Given the description of an element on the screen output the (x, y) to click on. 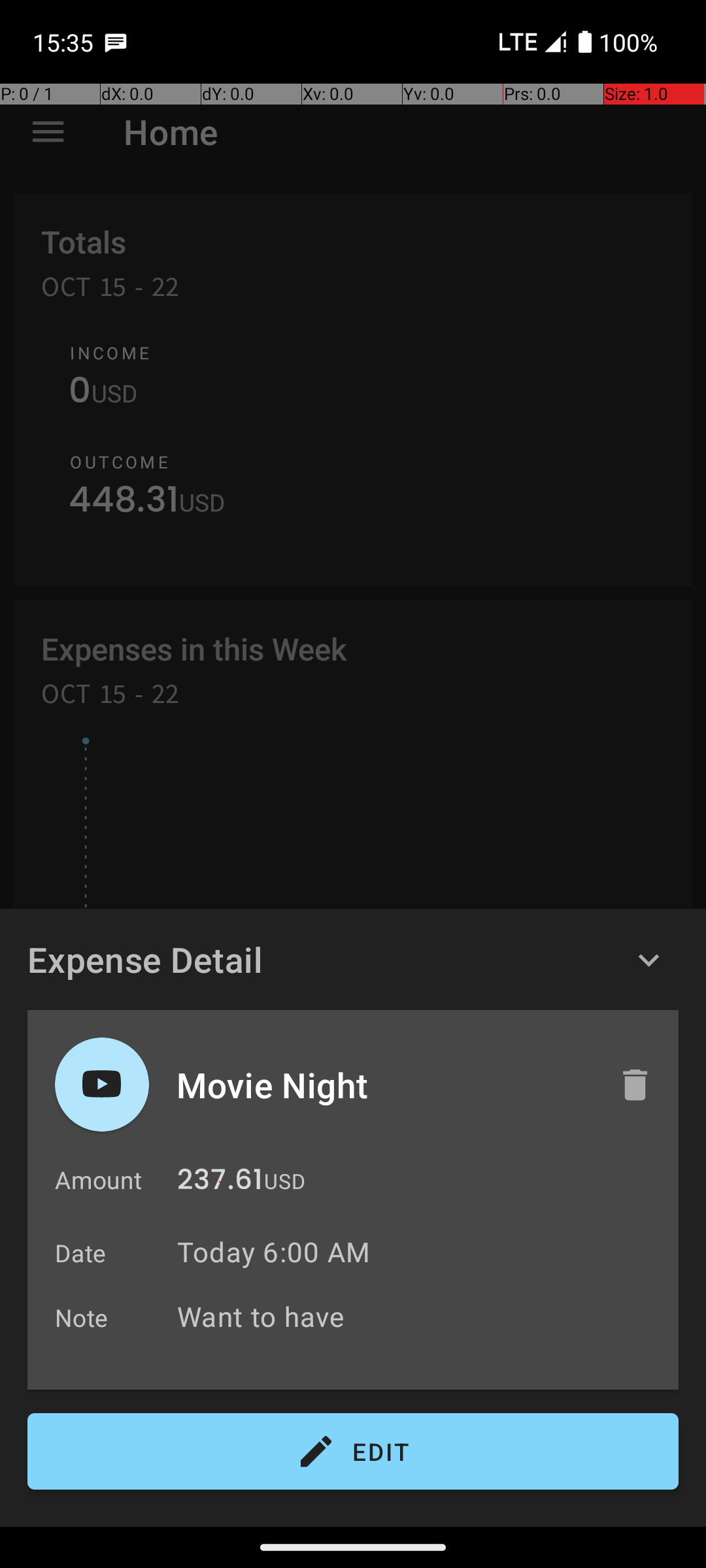
Movie Night Element type: android.widget.TextView (383, 1084)
237.61 Element type: android.widget.TextView (219, 1182)
Today 6:00 AM Element type: android.widget.TextView (273, 1251)
